Given the description of an element on the screen output the (x, y) to click on. 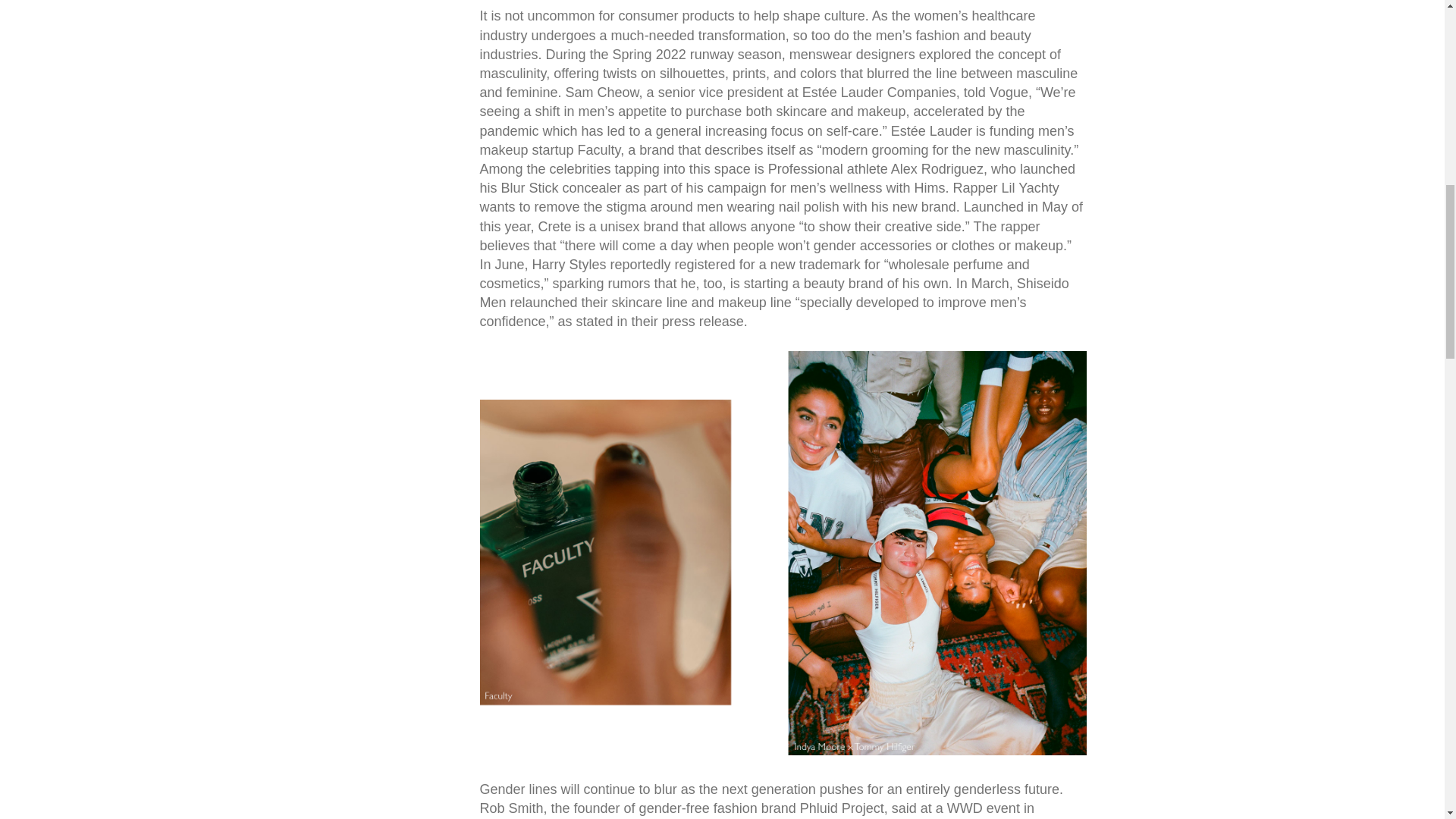
Spring 2022 runway season (696, 54)
Faculty (599, 150)
Crete (555, 225)
